Given the description of an element on the screen output the (x, y) to click on. 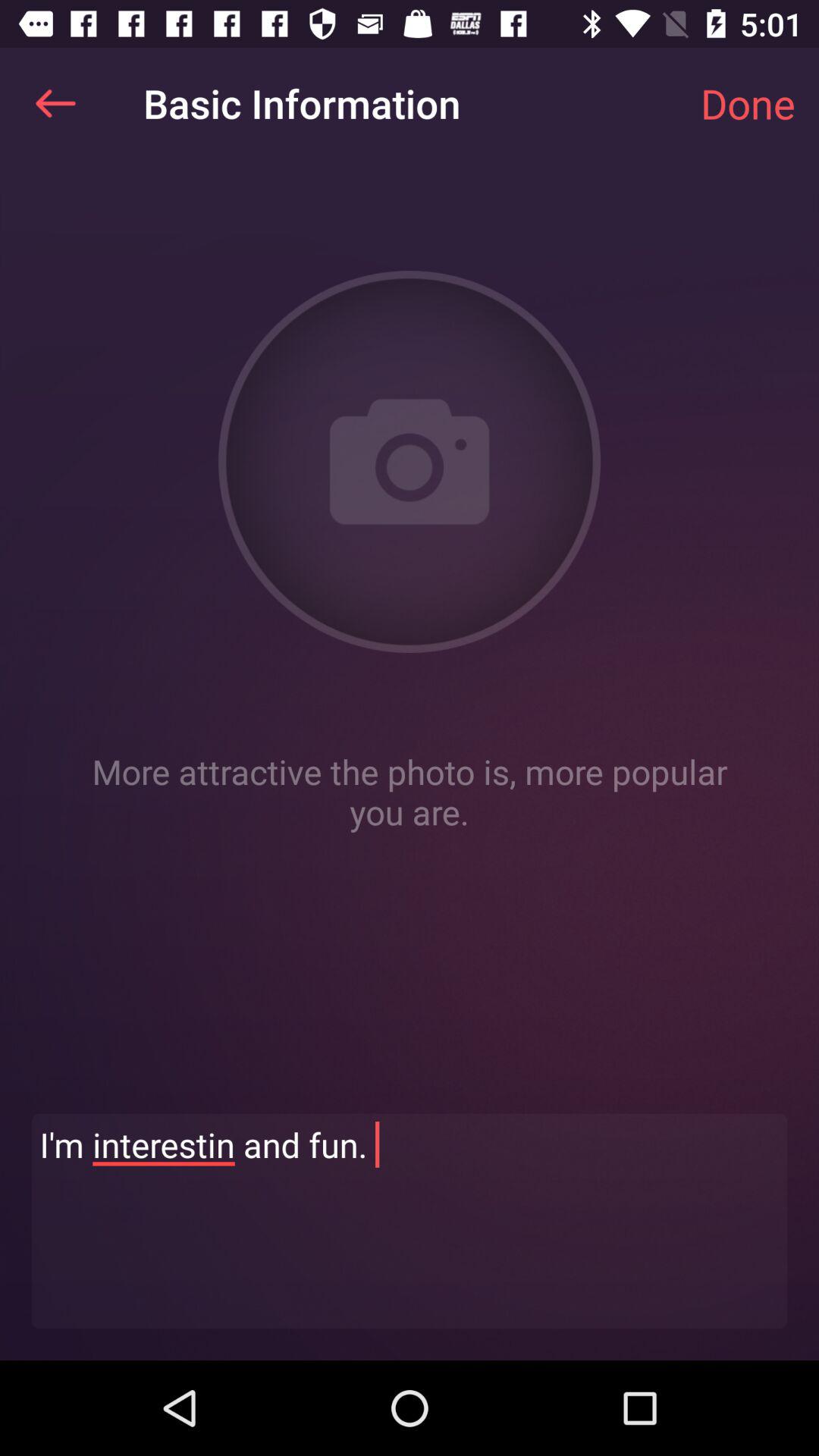
turn on item at the top right corner (747, 103)
